Given the description of an element on the screen output the (x, y) to click on. 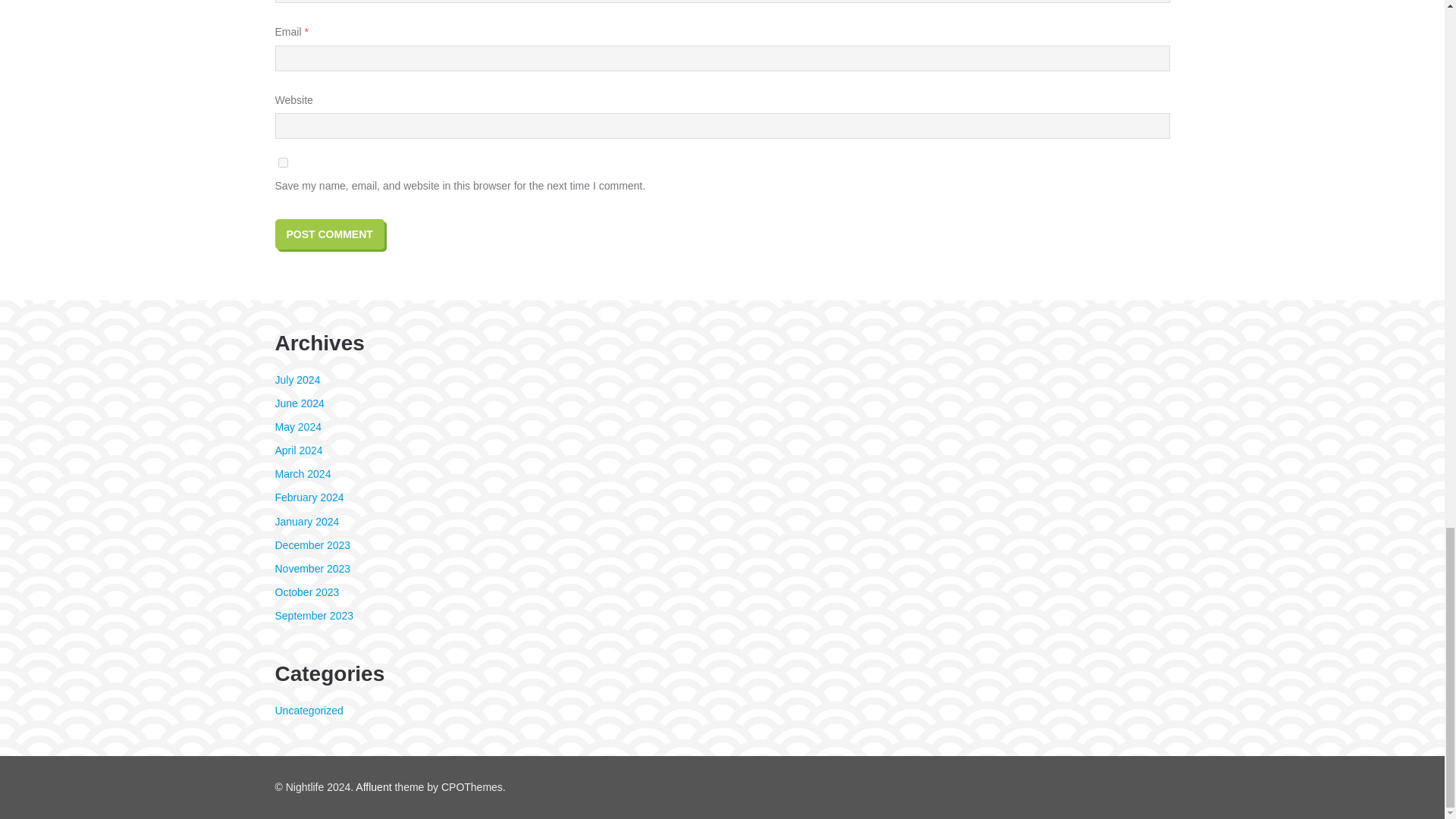
June 2024 (299, 403)
Uncategorized (308, 710)
July 2024 (297, 379)
January 2024 (307, 521)
November 2023 (312, 568)
February 2024 (309, 497)
October 2023 (307, 592)
September 2023 (314, 615)
yes (282, 162)
December 2023 (312, 544)
March 2024 (302, 473)
Affluent (373, 787)
Post Comment (329, 234)
May 2024 (297, 426)
Post Comment (329, 234)
